Given the description of an element on the screen output the (x, y) to click on. 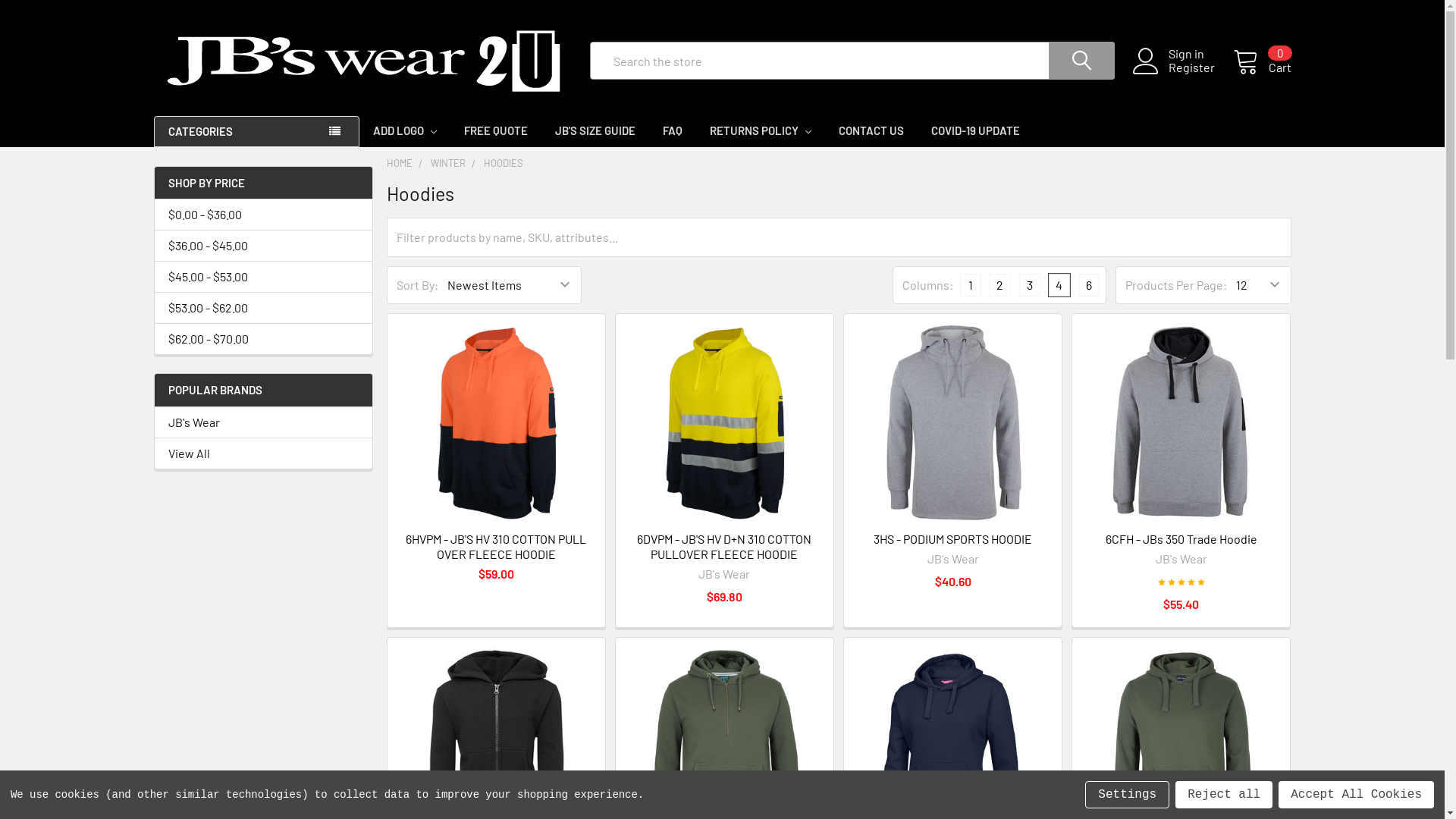
RETURNS POLICY Element type: text (760, 130)
Register Element type: text (1199, 67)
JB'S SIZE GUIDE Element type: text (595, 130)
Settings Element type: text (1127, 794)
6HVPM - JB'S HV 310 COTTON PULL OVER FLEECE HOODIE Element type: text (495, 546)
3HS - PODIUM SPORTS HOODIE Element type: text (952, 538)
COVID-19 UPDATE Element type: text (975, 130)
$53.00 - $62.00 Element type: text (263, 307)
$36.00 - $45.00 Element type: text (263, 245)
HOODIES Element type: text (503, 162)
WINTER Element type: text (447, 162)
Cart
0 Element type: text (1262, 60)
$45.00 - $53.00 Element type: text (263, 276)
HOME Element type: text (399, 162)
JB's Wear Element type: text (263, 422)
CATEGORIES Element type: text (255, 131)
$0.00 - $36.00 Element type: text (263, 214)
13% Marle-Black - 6CFH JBs 350 Trade Hoodie - JBs Wear Element type: hover (1180, 422)
ADD LOGO Element type: text (404, 130)
YELLOW/NAVY  Element type: hover (724, 422)
Sign in Element type: text (1199, 53)
ORANGE/NAVY  Element type: hover (496, 422)
Search Element type: text (1069, 60)
Jb's Wear 2U Element type: hover (362, 60)
Accept All Cookies Element type: text (1356, 794)
FREE QUOTE Element type: text (495, 130)
6DVPM - JB'S HV D+N 310 COTTON PULLOVER FLEECE HOODIE Element type: text (724, 546)
View All Element type: text (263, 453)
13% MARLE Element type: hover (952, 422)
Reject all Element type: text (1223, 794)
FAQ Element type: text (672, 130)
$62.00 - $70.00 Element type: text (263, 338)
CONTACT US Element type: text (871, 130)
6CFH - JBs 350 Trade Hoodie Element type: text (1181, 538)
